Given the description of an element on the screen output the (x, y) to click on. 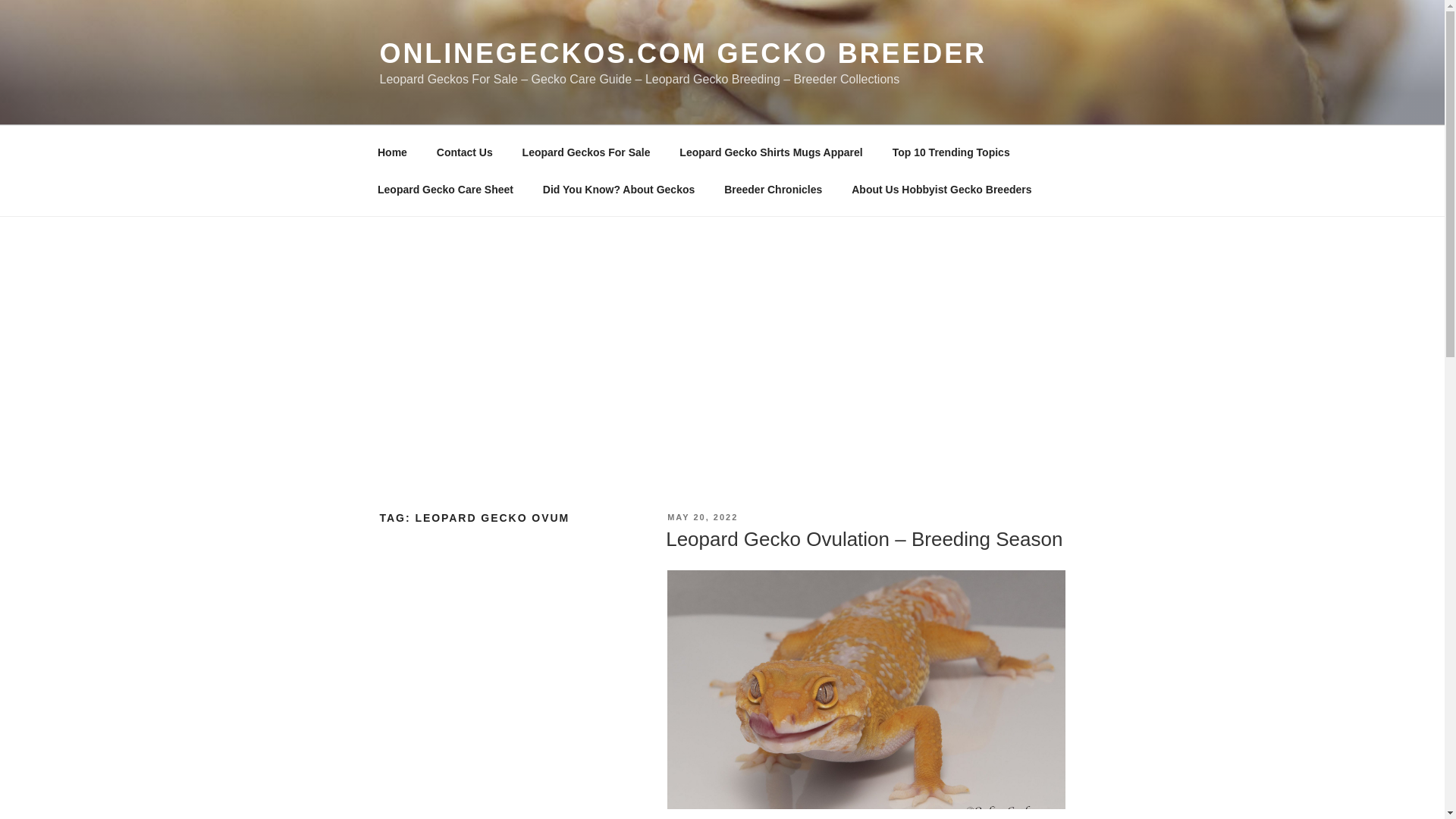
Leopard Geckos For Sale (585, 151)
Leopard Gecko Care Sheet (444, 189)
About Us Hobbyist Gecko Breeders (941, 189)
MAY 20, 2022 (702, 516)
Contact Us (464, 151)
Home (392, 151)
Leopard Gecko Shirts Mugs Apparel (771, 151)
Breeder Chronicles (773, 189)
Did You Know? About Geckos (618, 189)
Top 10 Trending Topics (951, 151)
ONLINEGECKOS.COM GECKO BREEDER (681, 52)
